Given the description of an element on the screen output the (x, y) to click on. 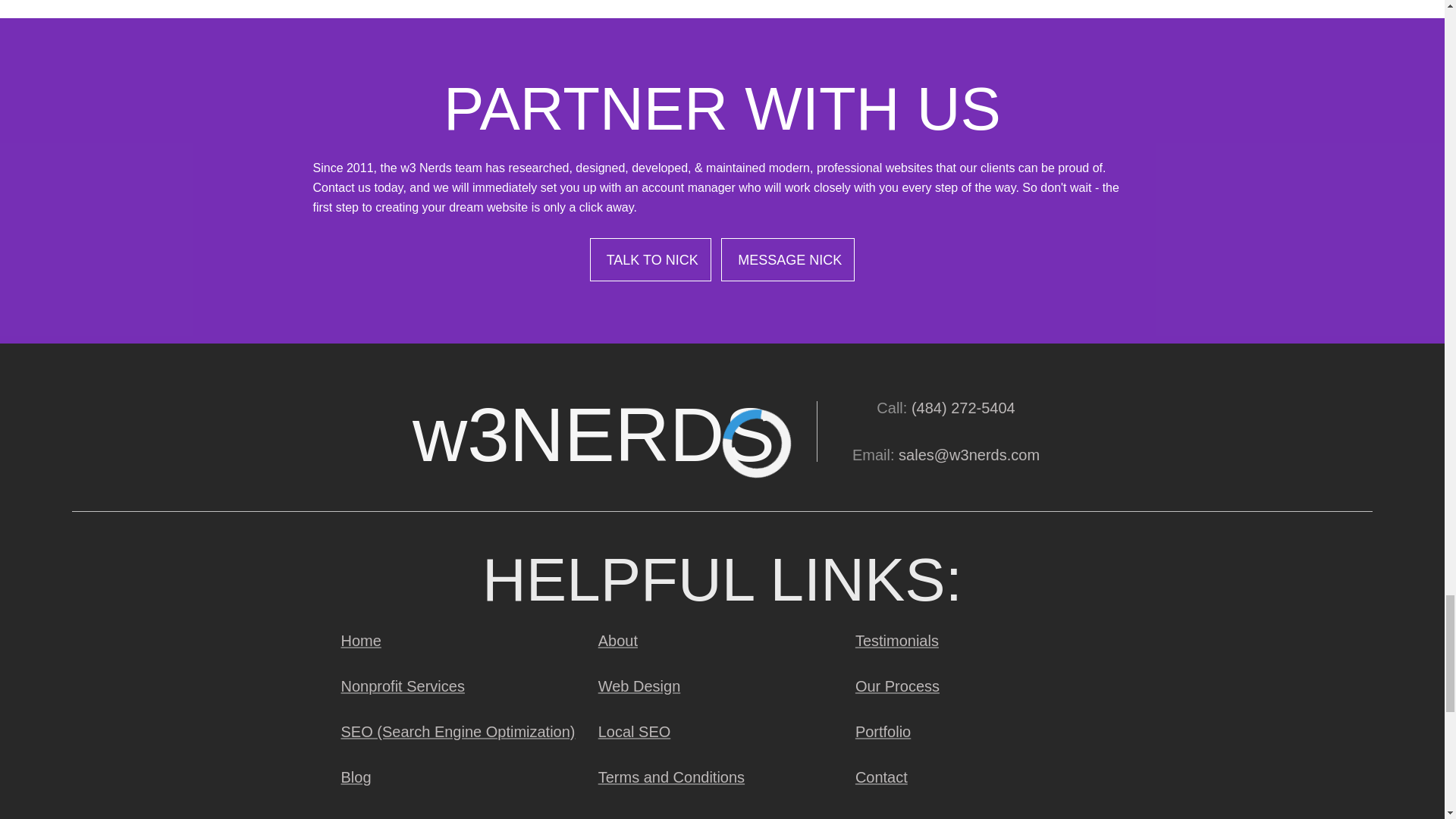
Home (359, 640)
Testimonials (896, 640)
About (617, 640)
TALK TO NICK (650, 259)
MESSAGE NICK (787, 259)
w3NERDS (593, 430)
